Given the description of an element on the screen output the (x, y) to click on. 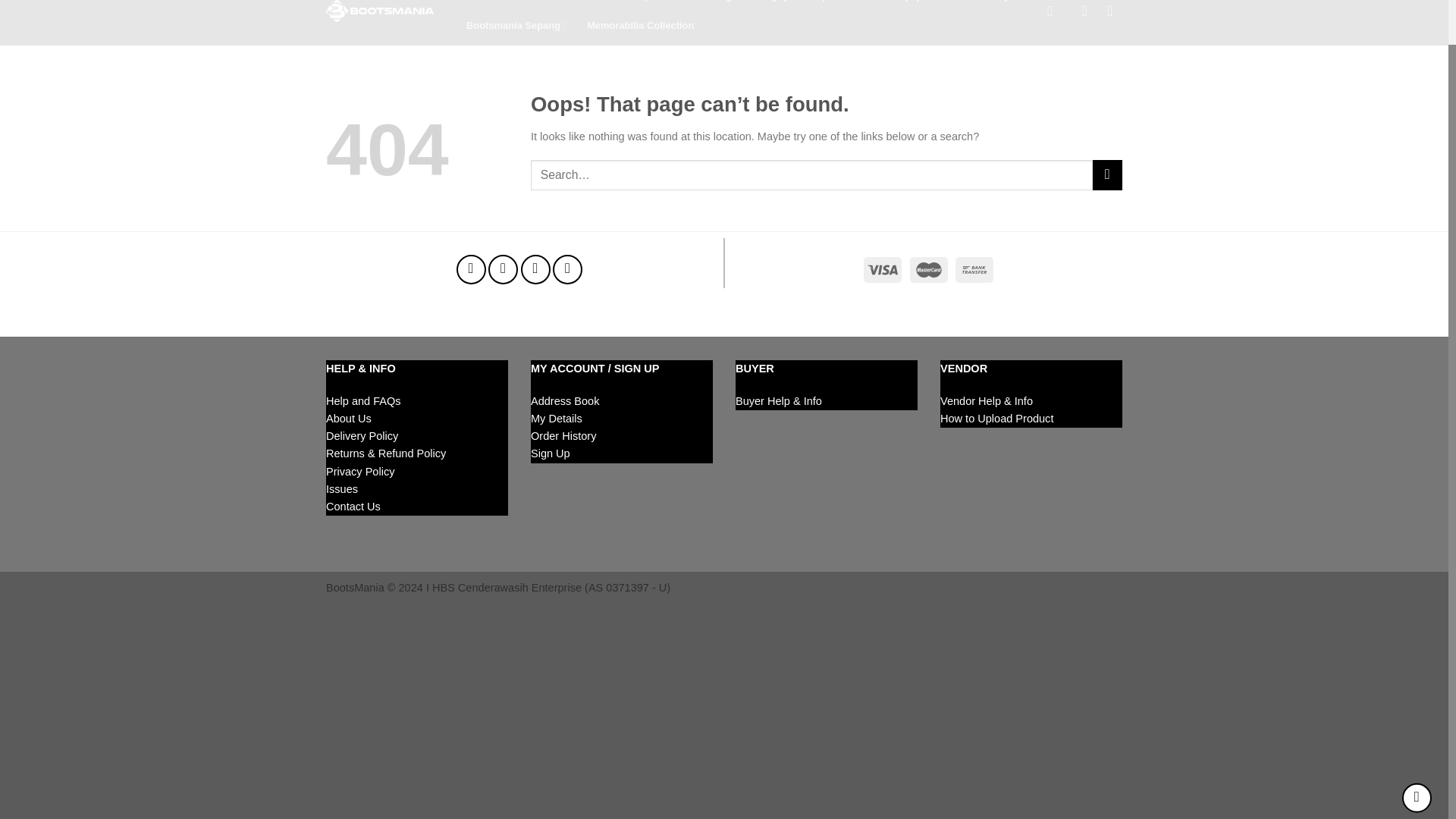
Send us an email (535, 269)
Follow on YouTube (567, 269)
Follow on Instagram (502, 269)
Follow on Facebook (471, 269)
Football Boots (494, 5)
